Given the description of an element on the screen output the (x, y) to click on. 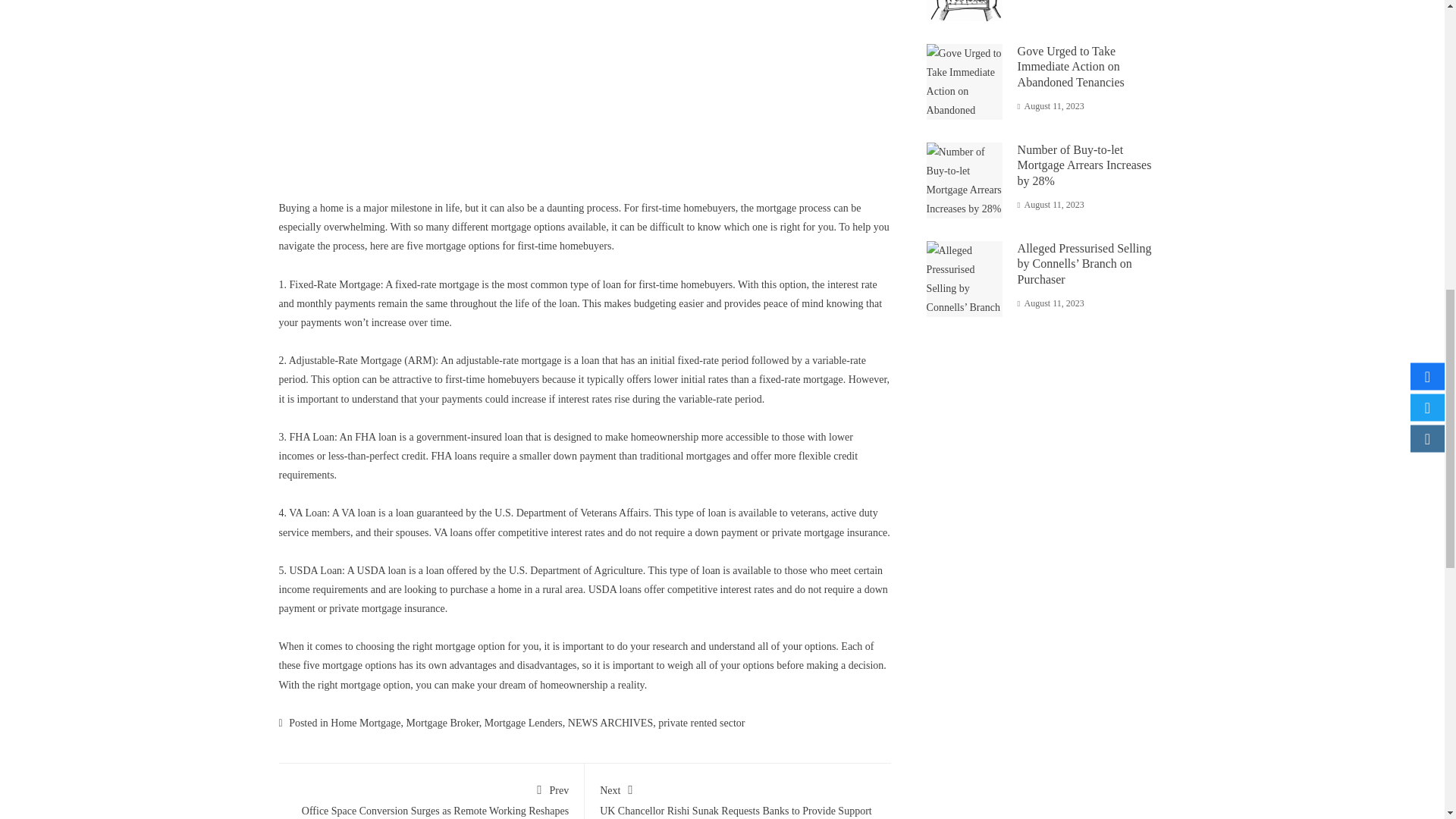
Gove Urged to Take Immediate Action on Abandoned Tenancies (1070, 67)
Mortgage Broker (442, 722)
Home Mortgage (365, 722)
Mortgage Lenders (523, 722)
NEWS ARCHIVES (609, 722)
private rented sector (701, 722)
